Given the description of an element on the screen output the (x, y) to click on. 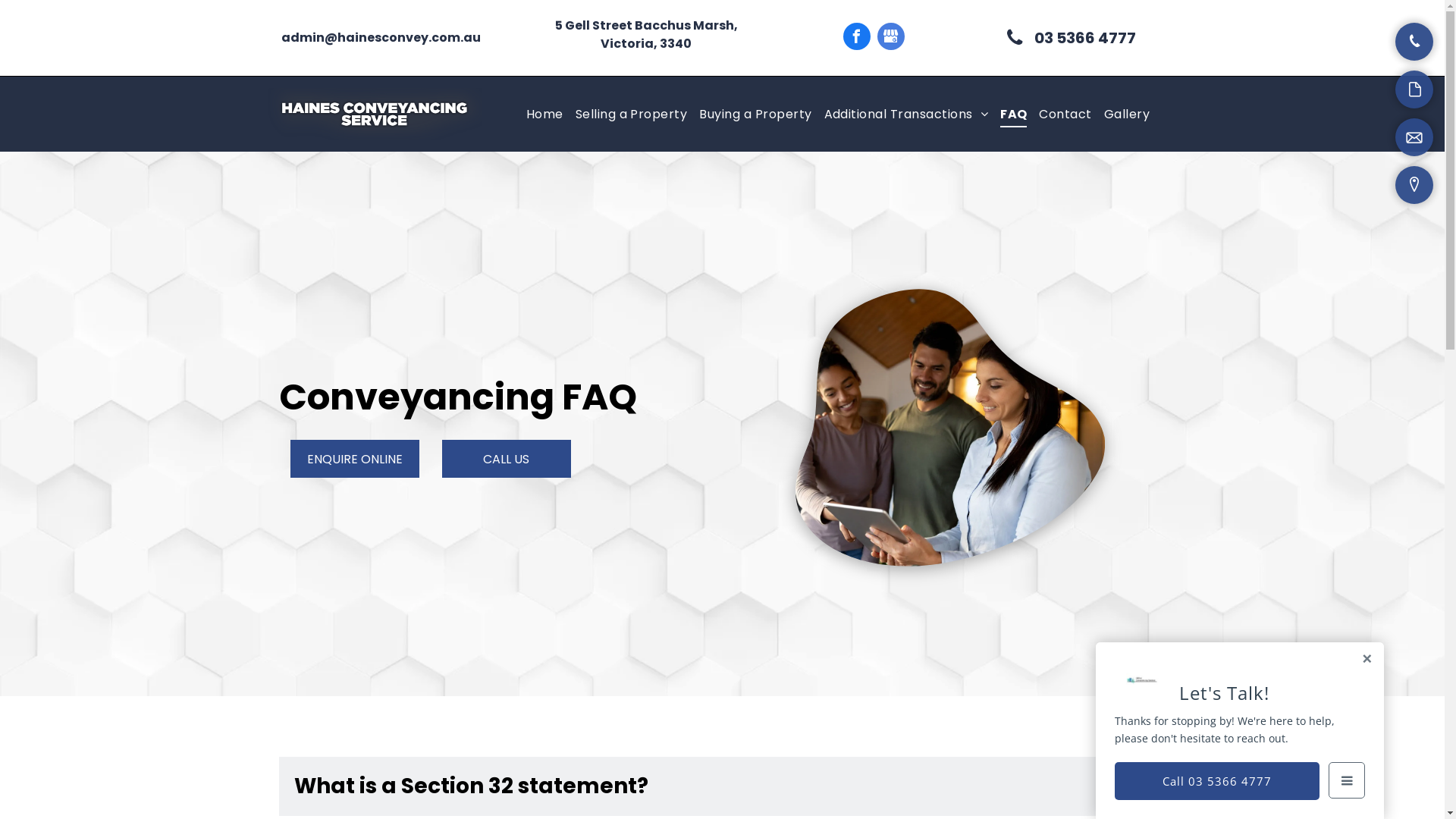
Haines Conveyancing Element type: hover (373, 113)
admin@hainesconvey.com.au Element type: text (380, 37)
ENQUIRE ONLINE Element type: text (353, 458)
Selling a Property Element type: text (631, 114)
Additional Transactions Element type: text (905, 114)
Gallery Element type: text (1126, 114)
Buying a Property Element type: text (755, 114)
03 5366 4777 Element type: text (1069, 37)
CALL US Element type: text (505, 458)
Home Element type: text (544, 114)
Call 03 5366 4777 Element type: text (1216, 781)
FAQ Element type: text (1013, 114)
5 Gell Street Bacchus Marsh, Victoria, 3340 Element type: text (646, 34)
Contact Element type: text (1064, 114)
